Given the description of an element on the screen output the (x, y) to click on. 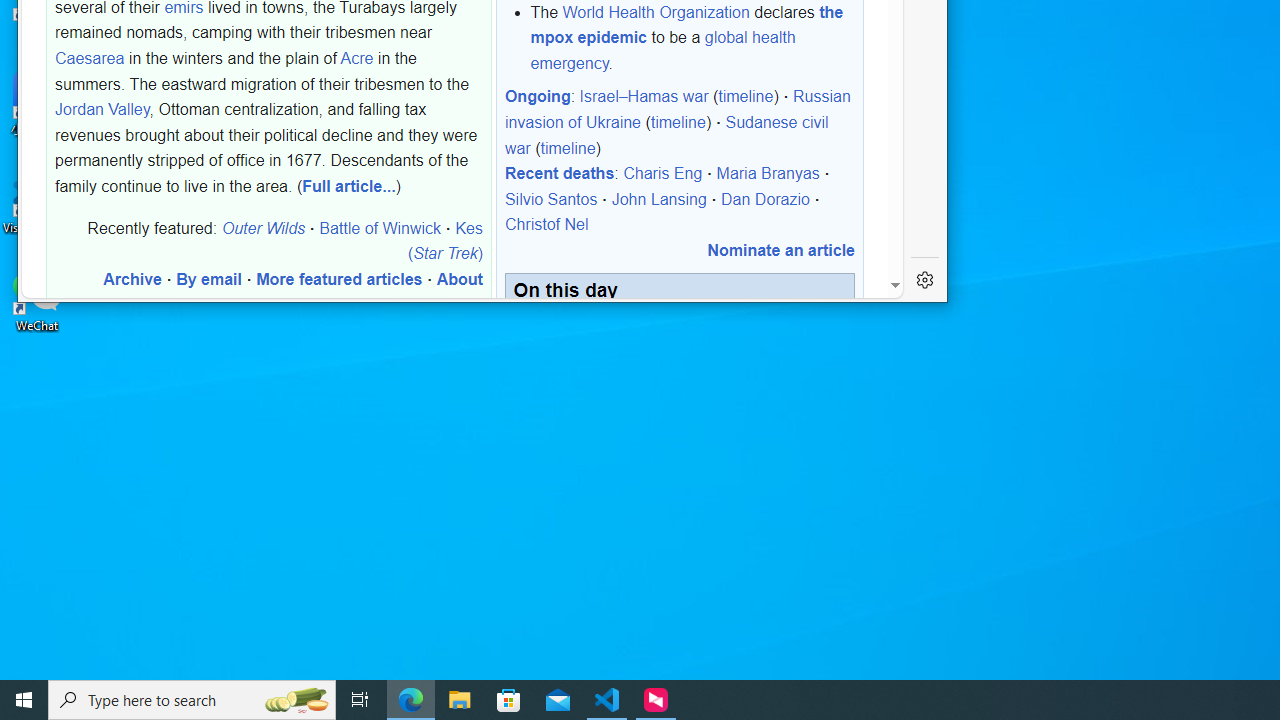
the mpox epidemic (686, 24)
Maria Branyas (767, 173)
Sudanese civil war (666, 134)
Charis Eng (662, 173)
Dan Dorazio (765, 199)
Silvio Santos (550, 199)
